Given the description of an element on the screen output the (x, y) to click on. 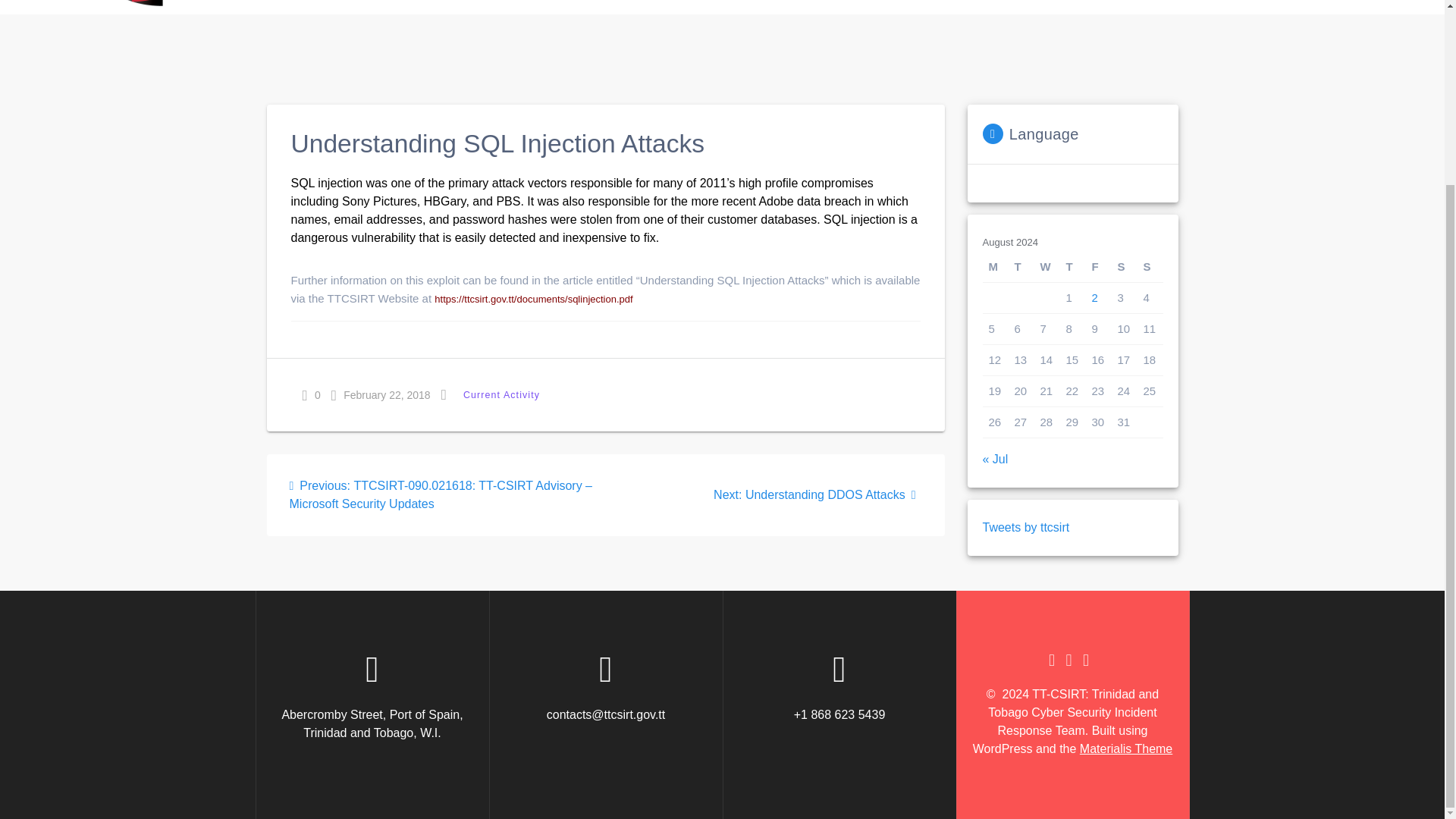
0 (310, 394)
February 22, 2018 (380, 394)
Current Activity (501, 395)
